Given the description of an element on the screen output the (x, y) to click on. 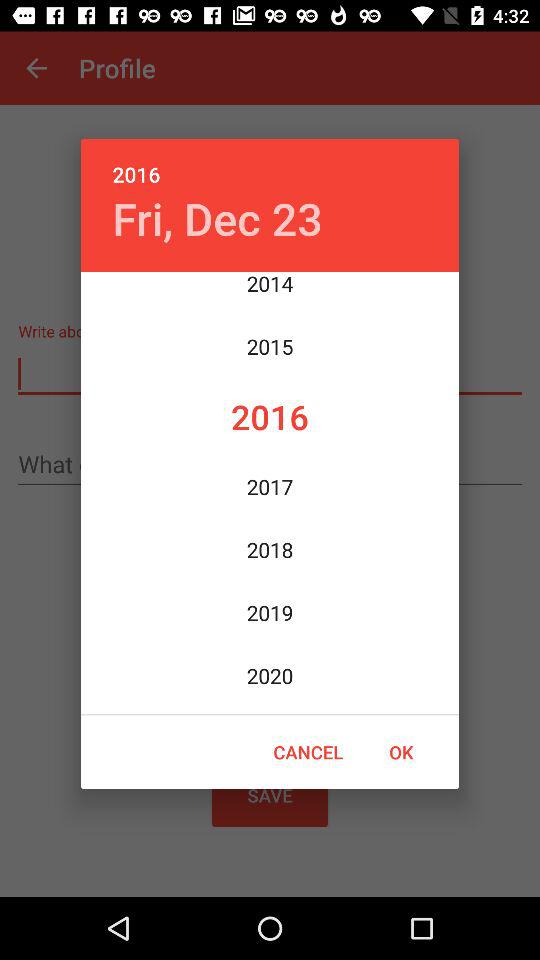
turn on the cancel icon (308, 751)
